Given the description of an element on the screen output the (x, y) to click on. 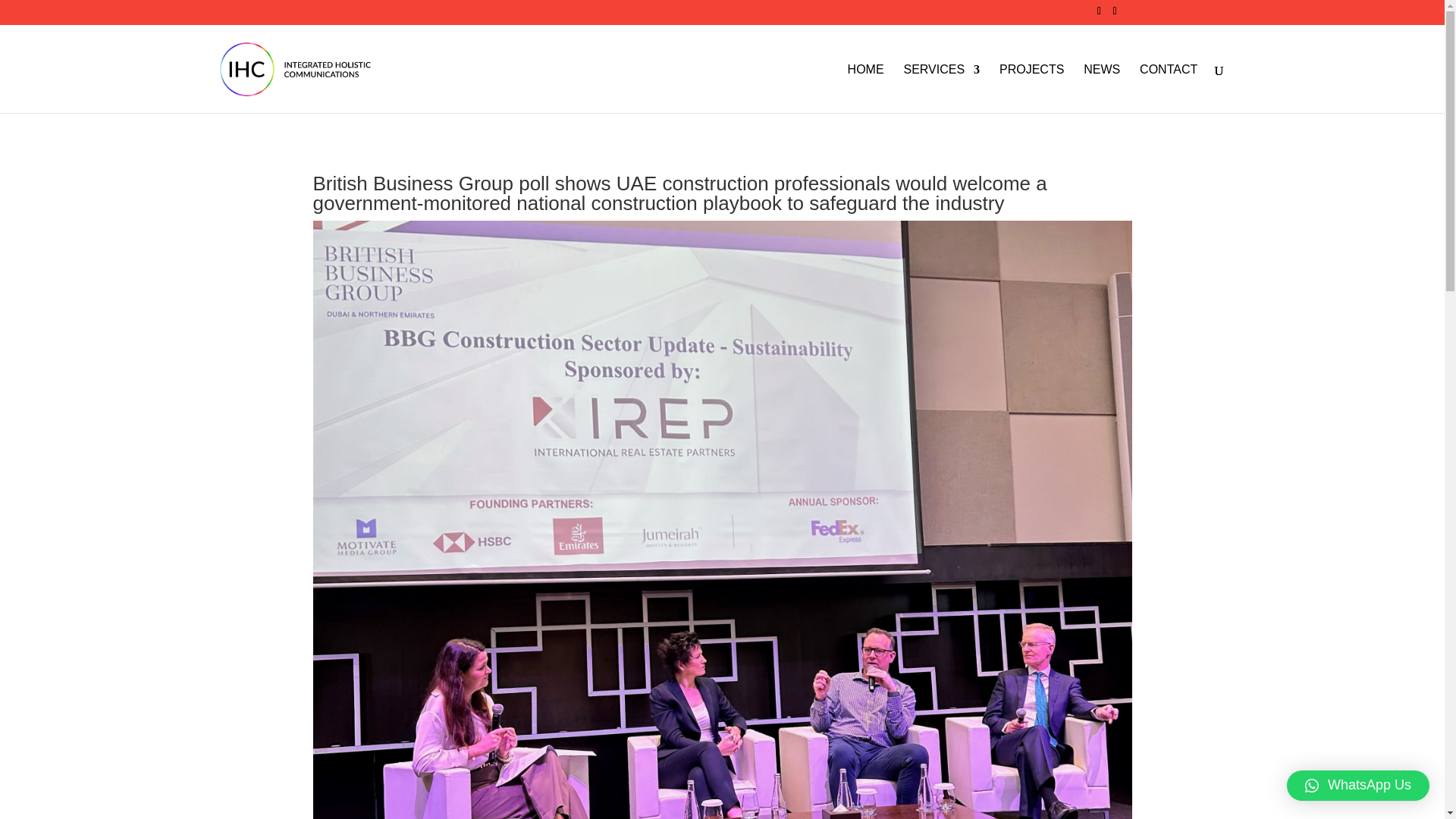
SERVICES (940, 87)
PROJECTS (1031, 87)
CONTACT (1168, 87)
